Given the description of an element on the screen output the (x, y) to click on. 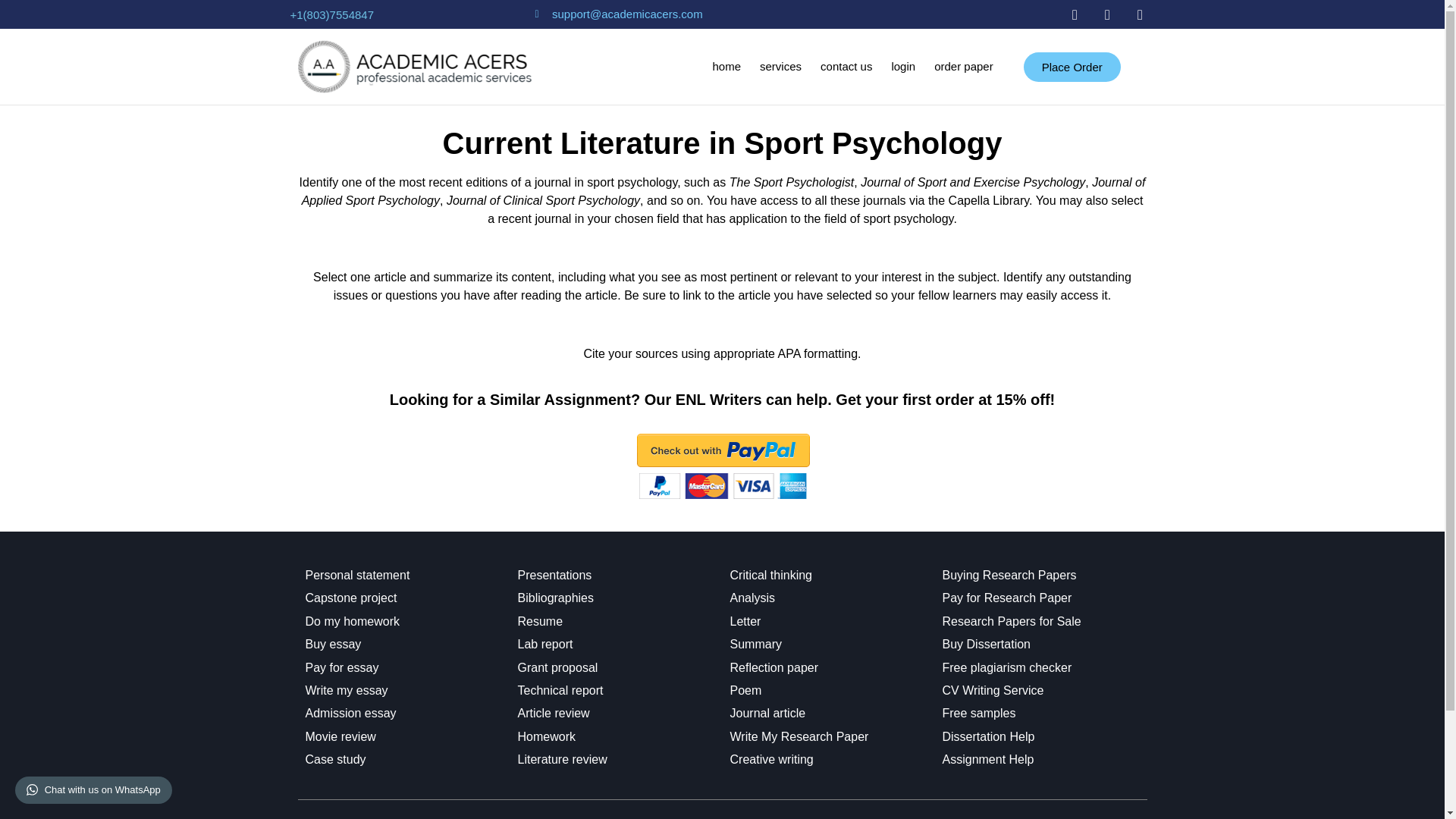
home (727, 66)
contact us (845, 66)
services (780, 66)
login (903, 66)
Place Order (1072, 66)
order paper (963, 66)
